Given the description of an element on the screen output the (x, y) to click on. 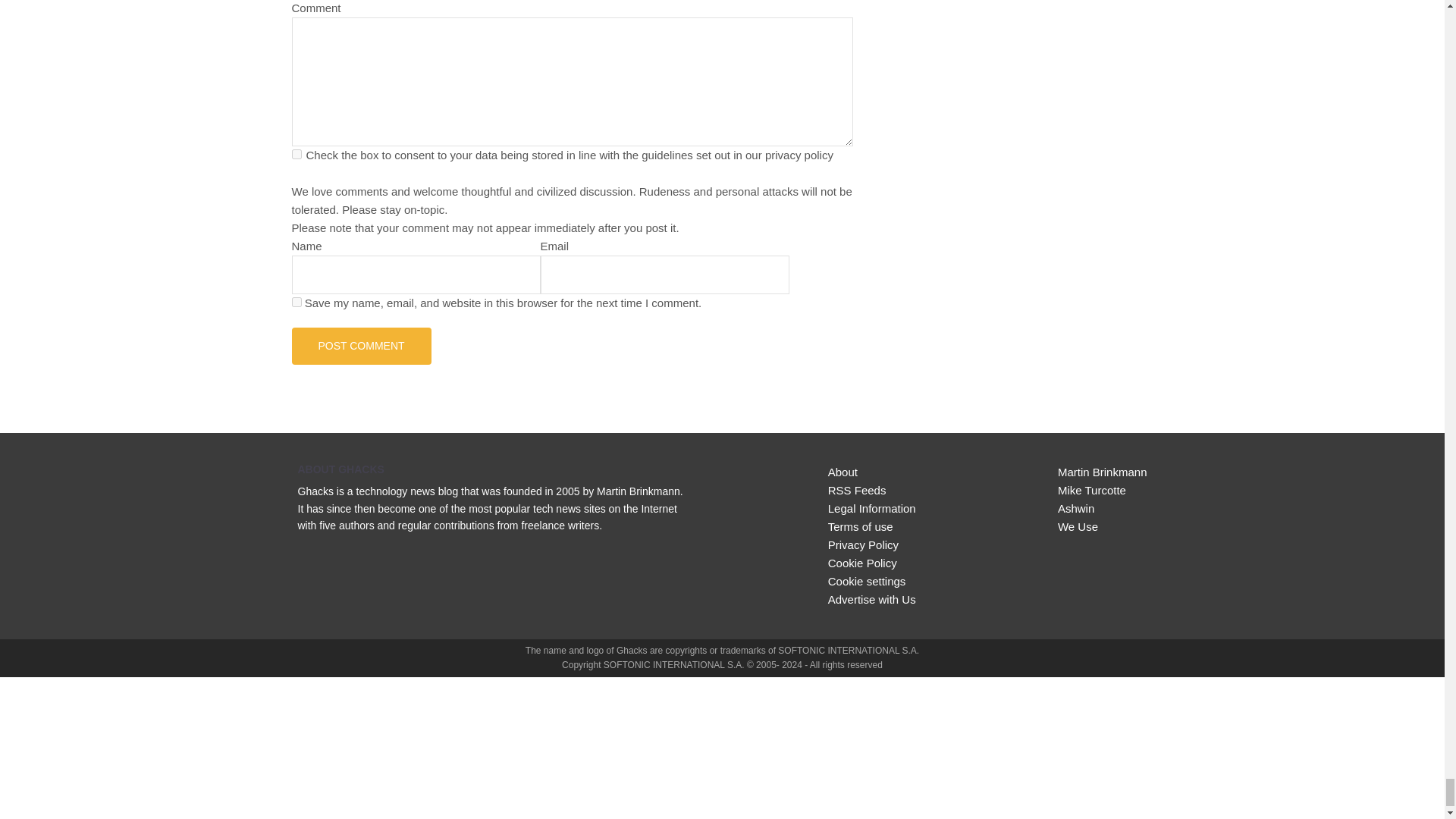
privacy-key (296, 153)
Post Comment (360, 345)
yes (296, 302)
